Given the description of an element on the screen output the (x, y) to click on. 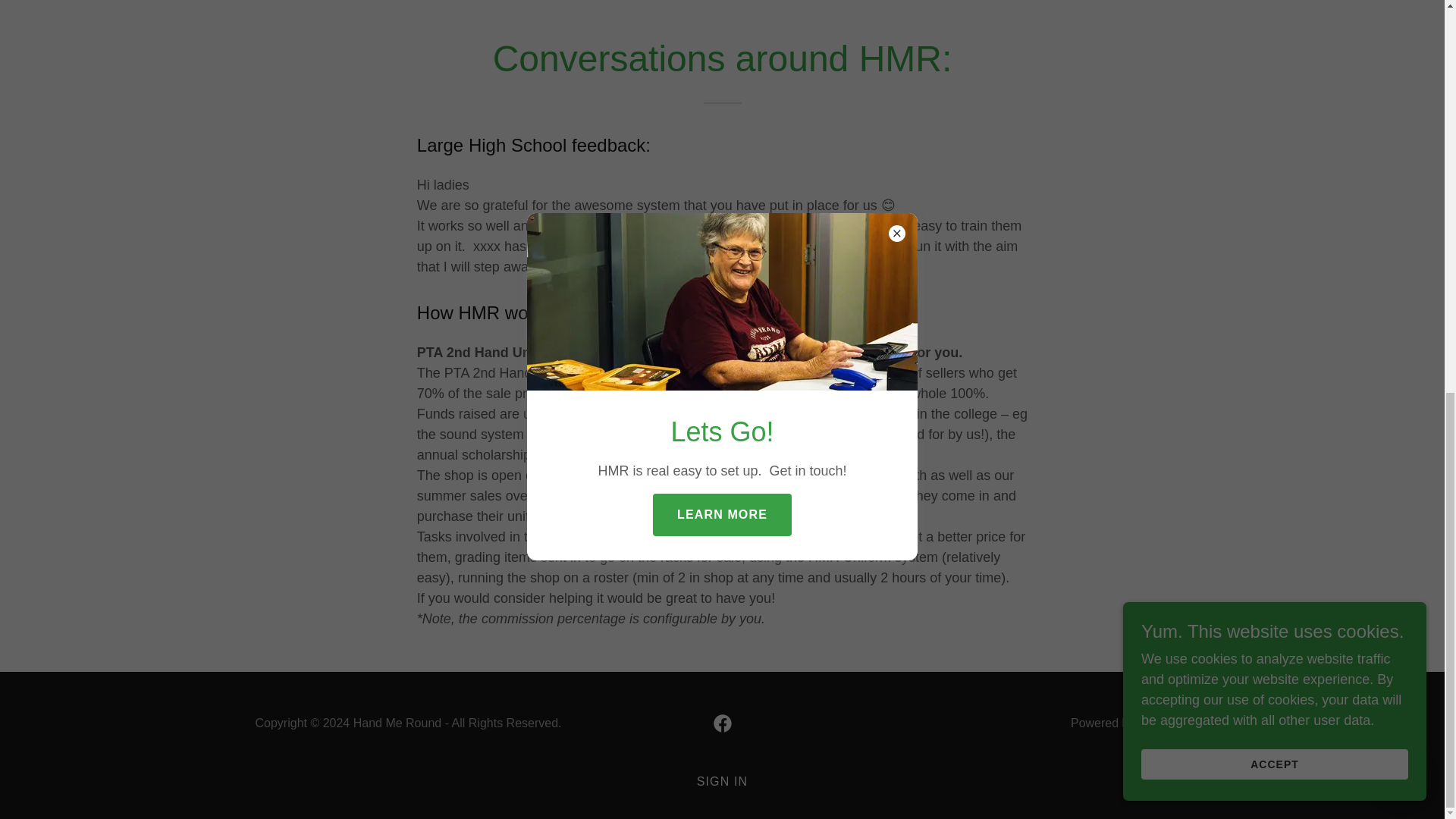
SIGN IN (722, 781)
GoDaddy (1163, 722)
ACCEPT (1274, 12)
